Given the description of an element on the screen output the (x, y) to click on. 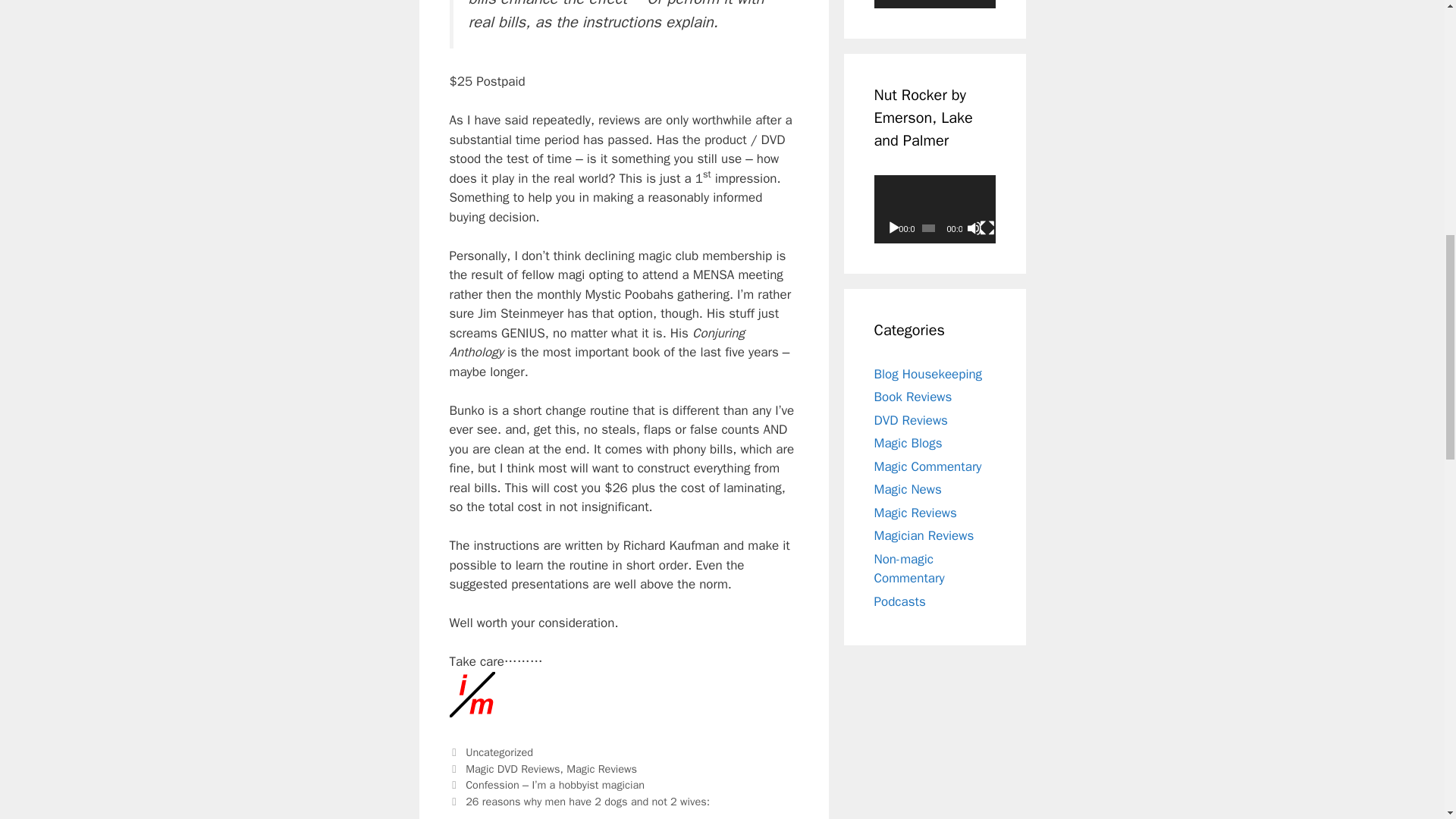
Magic DVD Reviews (512, 768)
Play (893, 227)
Blog Housekeeping (927, 374)
Book Reviews (912, 396)
Mute (973, 227)
Magician Reviews (923, 535)
DVD Reviews (910, 420)
